Given the description of an element on the screen output the (x, y) to click on. 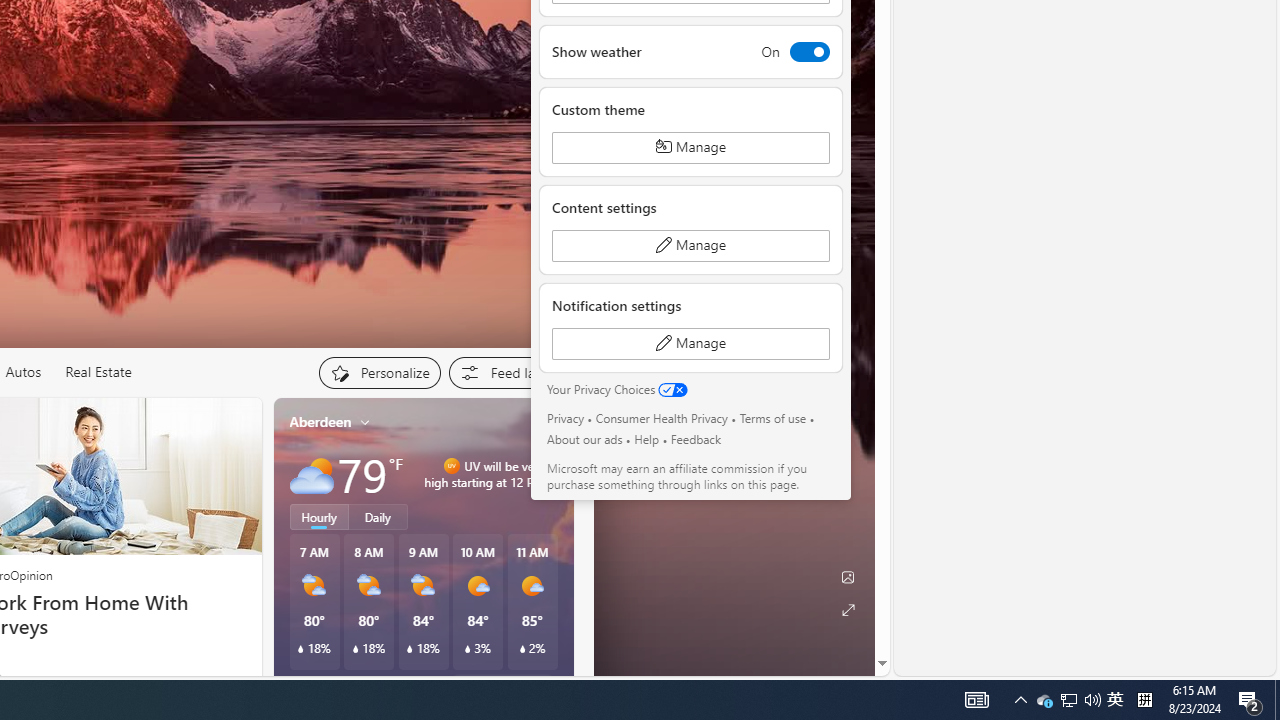
Edit Background (847, 577)
Daily (378, 516)
Real Estate (97, 372)
previous (283, 549)
Manage (690, 344)
Class: icon-img (543, 421)
Show weather On (690, 51)
Hourly (319, 516)
Mostly cloudy (311, 474)
